Given the description of an element on the screen output the (x, y) to click on. 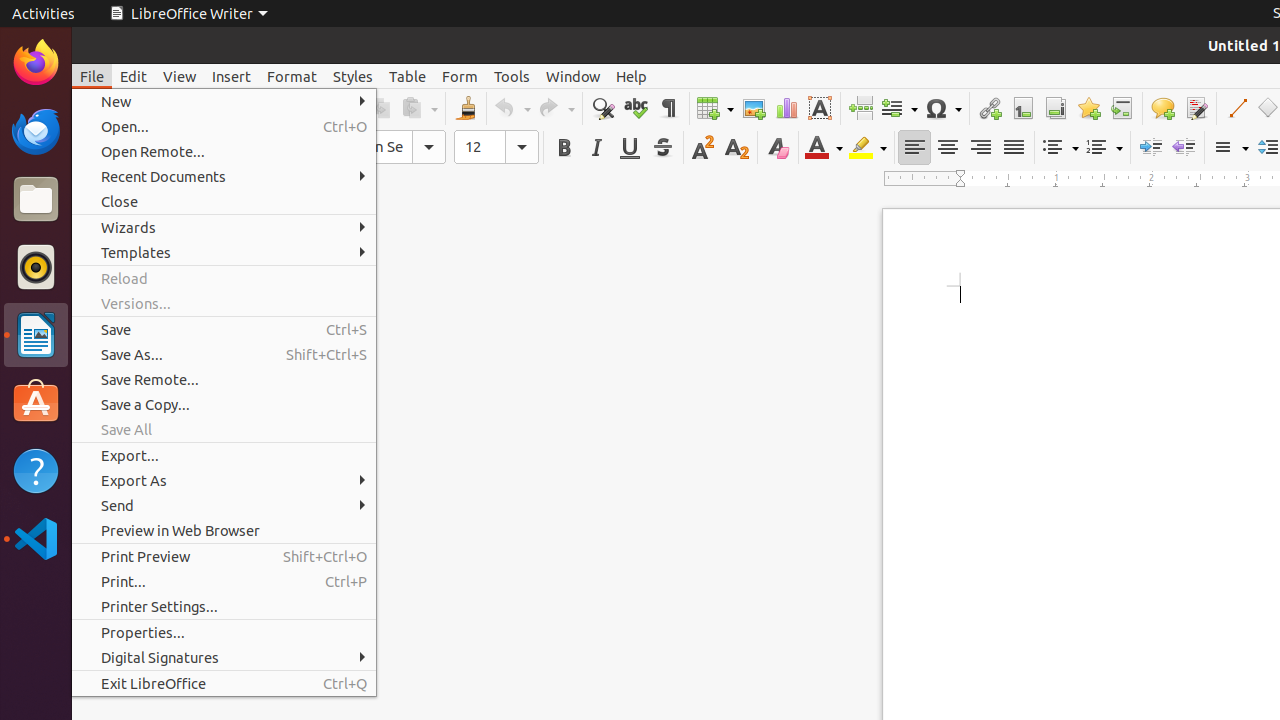
Exit LibreOffice Element type: menu-item (224, 683)
Recent Documents Element type: menu (224, 176)
Open... Element type: menu-item (224, 126)
Hyperlink Element type: toggle-button (989, 108)
Digital Signatures Element type: menu (224, 657)
